Given the description of an element on the screen output the (x, y) to click on. 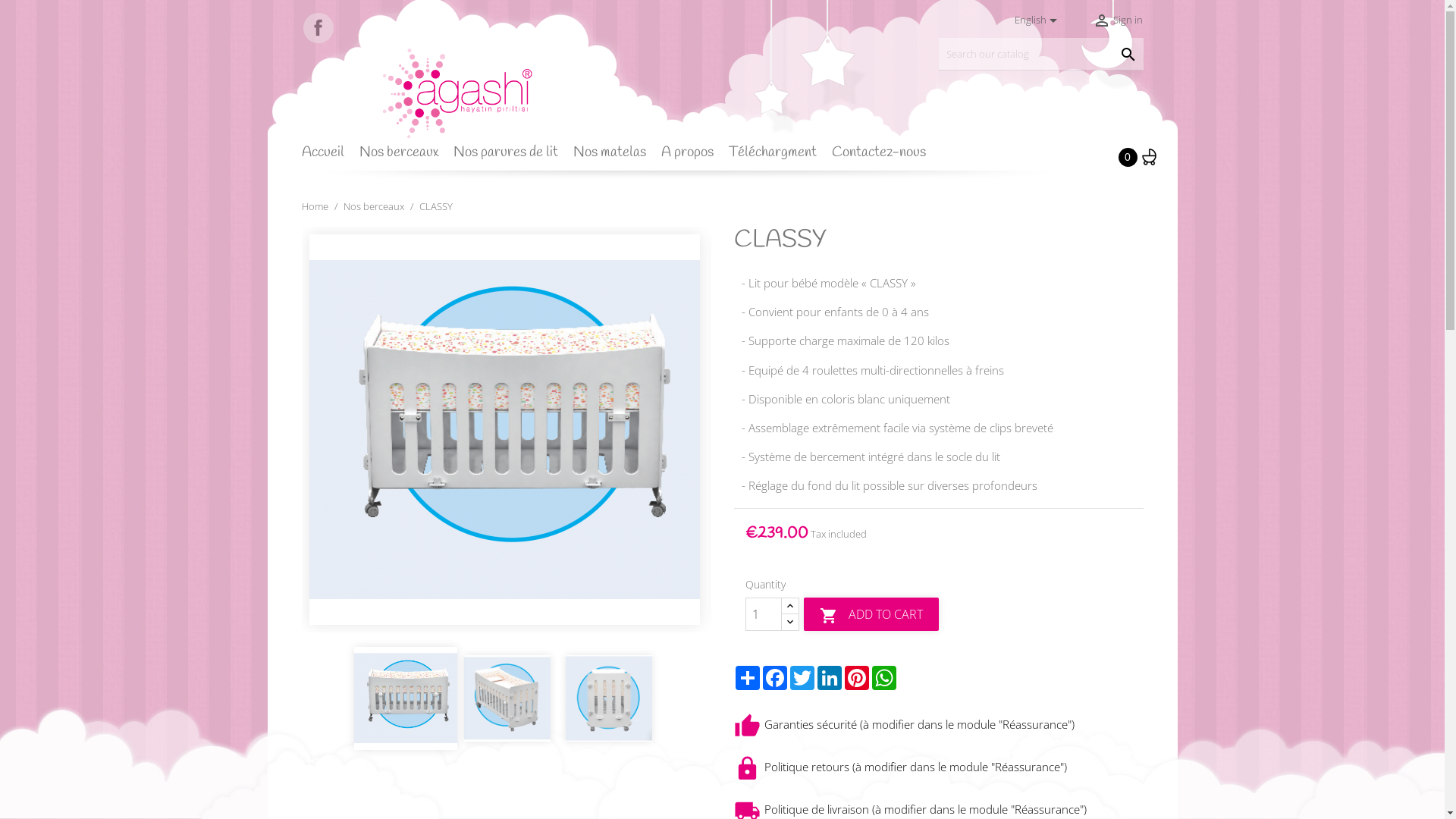
LinkedIn Element type: text (829, 677)
Facebook Element type: text (774, 677)
Twitter Element type: text (801, 677)
WhatsApp Element type: text (883, 677)
Facebook Element type: text (318, 27)
Nos matelas Element type: text (615, 157)
0 Element type: text (1142, 156)
Nos parures de lit Element type: text (511, 157)
Accueil Element type: text (328, 157)
Home Element type: text (315, 206)
Pinterest Element type: text (856, 677)
A propos Element type: text (692, 157)
Partager Element type: text (747, 677)
Nos berceaux Element type: text (404, 157)
Nos berceaux Element type: text (373, 206)
Contactez-nous Element type: text (883, 157)
CLASSY Element type: text (434, 206)
